Given the description of an element on the screen output the (x, y) to click on. 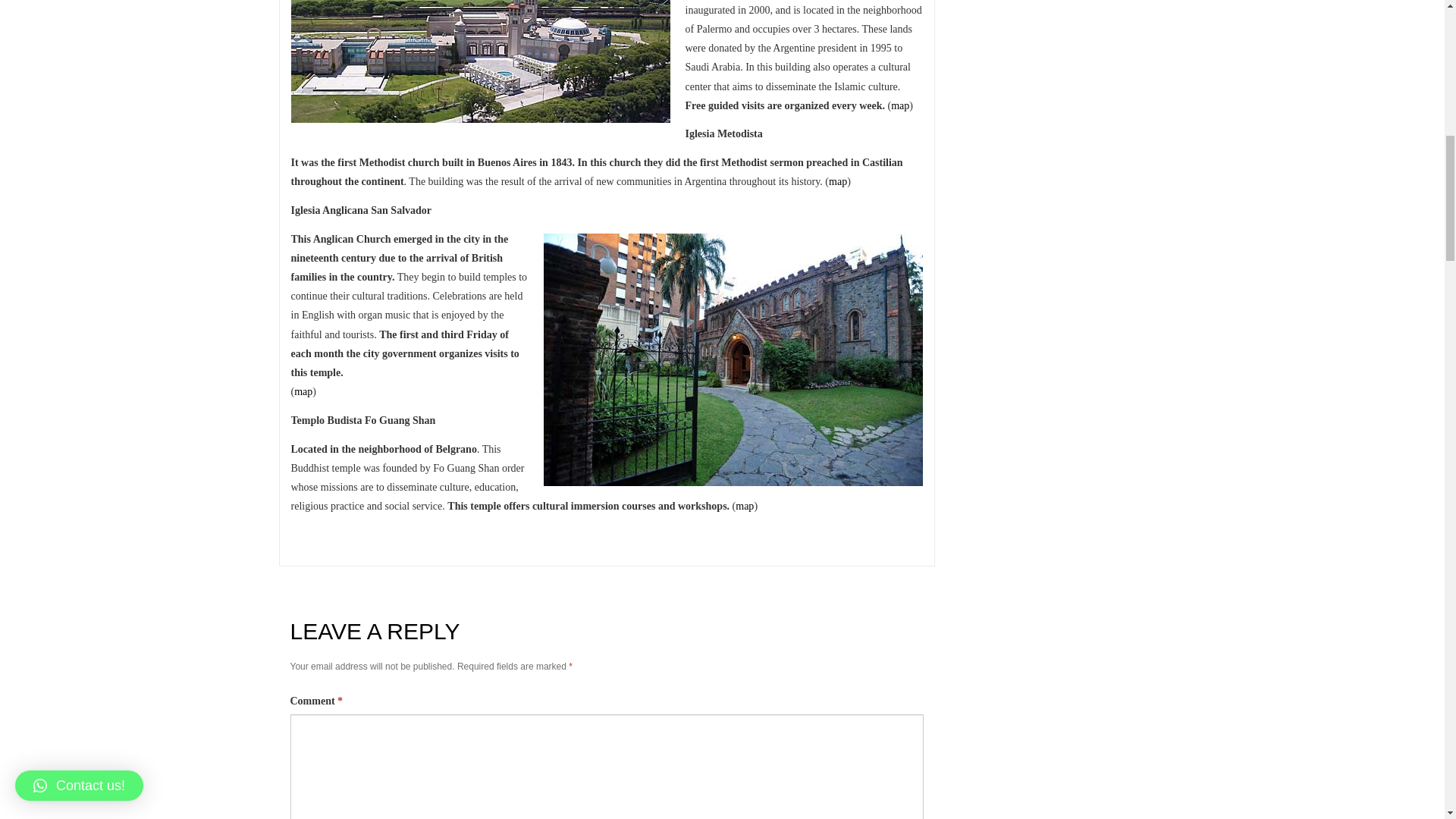
map (837, 181)
map (899, 105)
map (303, 391)
map (744, 505)
